Given the description of an element on the screen output the (x, y) to click on. 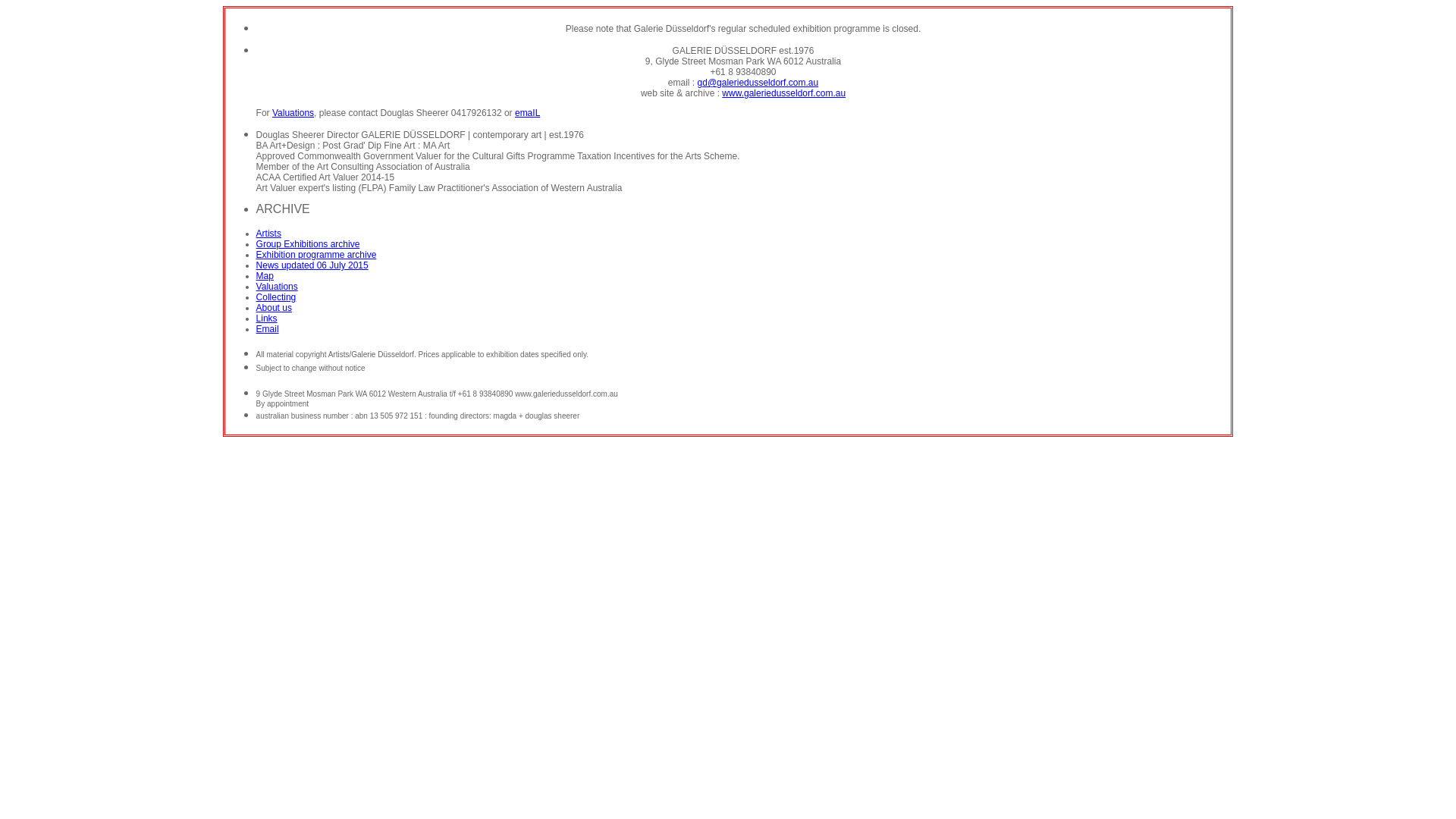
emaIL Element type: text (526, 112)
Artists Element type: text (268, 233)
Group Exhibitions archive Element type: text (308, 243)
Email Element type: text (267, 328)
About us Element type: text (273, 307)
Exhibition programme archive Element type: text (316, 254)
News updated 06 July 2015 Element type: text (312, 265)
www.galeriedusseldorf.com.au Element type: text (783, 92)
Valuations Element type: text (292, 112)
Collecting Element type: text (276, 296)
Valuations Element type: text (277, 286)
gd@galeriedusseldorf.com.au Element type: text (758, 82)
Links Element type: text (266, 318)
Map Element type: text (264, 275)
